Given the description of an element on the screen output the (x, y) to click on. 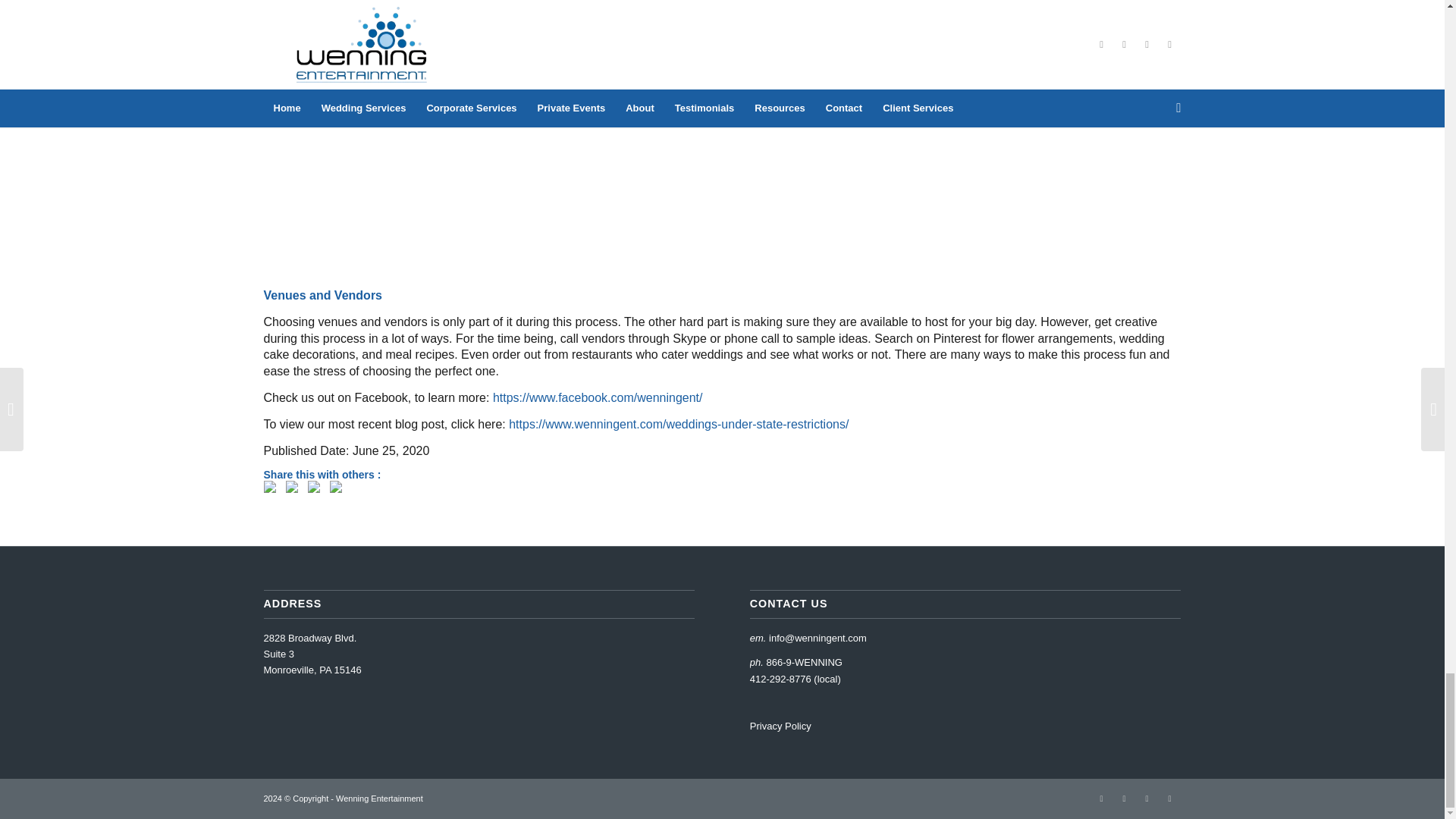
Share on Twitter (293, 489)
Share on Facebook (272, 489)
Pin it with Pinterest (316, 489)
